Given the description of an element on the screen output the (x, y) to click on. 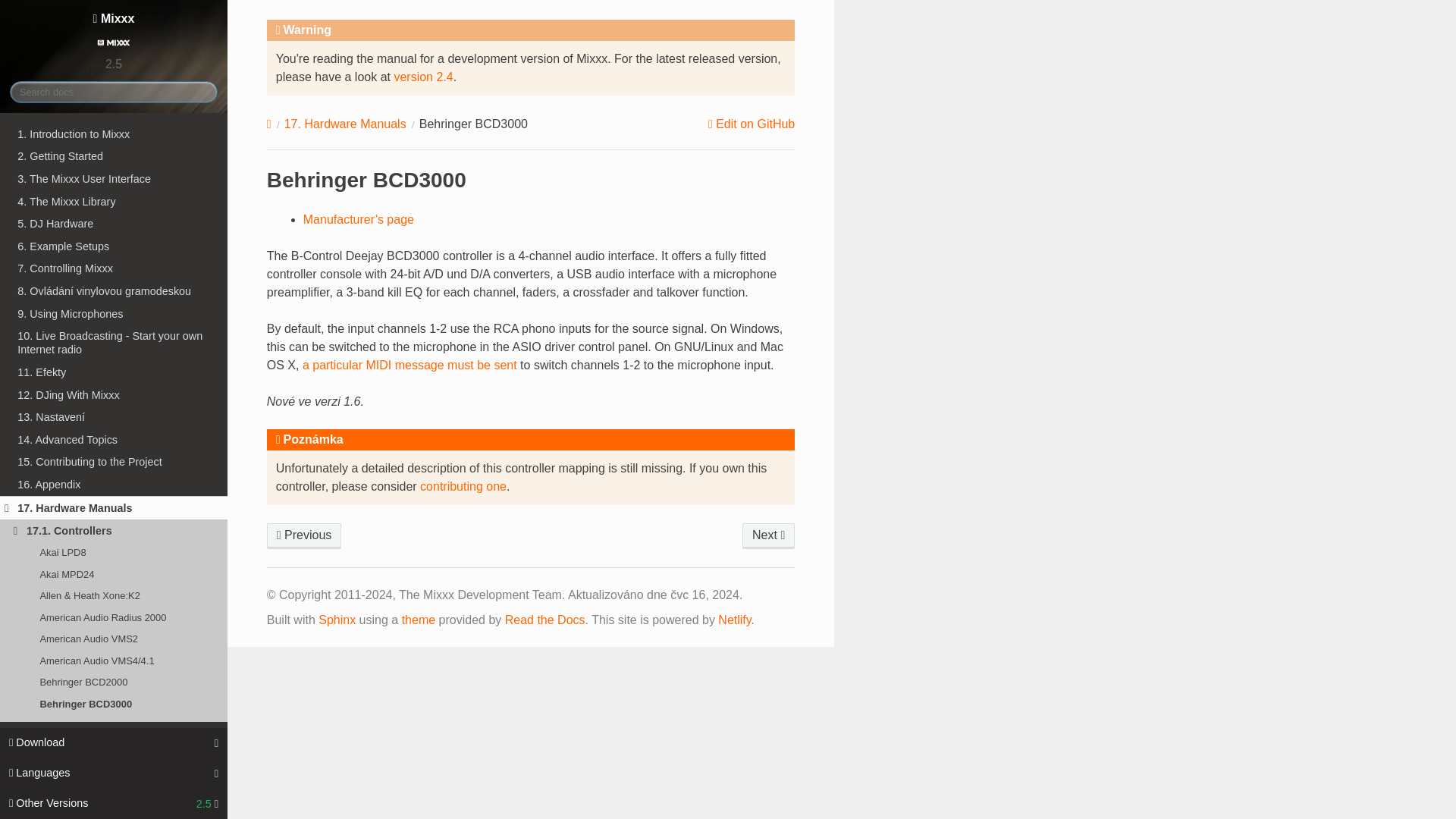
American Audio VMS2 (113, 639)
Behringer CMD Micro (113, 746)
16. Appendix (113, 484)
Behringer BCD2000 (113, 681)
American Audio Radius 2000 (113, 617)
6. Example Setups (113, 246)
Mixxx (113, 31)
Behringer BCD2000 (304, 535)
Behringer BCD3000 (113, 703)
12. DJing With Mixxx (113, 395)
17.1. Controllers (113, 531)
Behringer CMD STUDIO 4a (113, 789)
Behringer CMD MM-1 (113, 768)
Akai LPD8 (113, 552)
4. The Mixxx Library (113, 201)
